Given the description of an element on the screen output the (x, y) to click on. 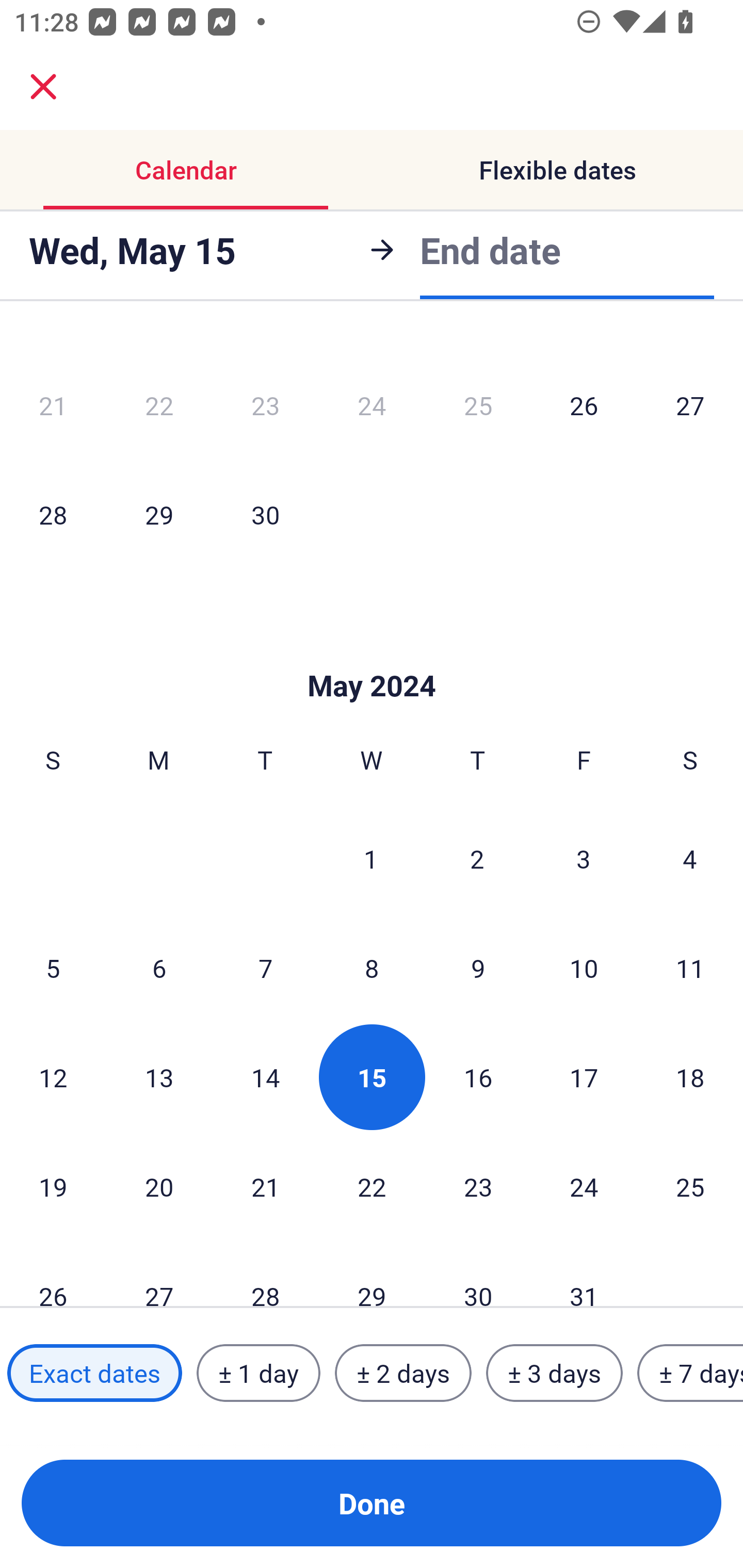
close. (43, 86)
Flexible dates (557, 170)
End date (489, 246)
21 Sunday, April 21, 2024 (53, 404)
22 Monday, April 22, 2024 (159, 404)
23 Tuesday, April 23, 2024 (265, 404)
24 Wednesday, April 24, 2024 (371, 404)
25 Thursday, April 25, 2024 (477, 404)
26 Friday, April 26, 2024 (584, 404)
27 Saturday, April 27, 2024 (690, 404)
28 Sunday, April 28, 2024 (53, 513)
29 Monday, April 29, 2024 (159, 513)
30 Tuesday, April 30, 2024 (265, 513)
Skip to Done (371, 654)
1 Wednesday, May 1, 2024 (371, 858)
2 Thursday, May 2, 2024 (477, 858)
3 Friday, May 3, 2024 (583, 858)
4 Saturday, May 4, 2024 (689, 858)
5 Sunday, May 5, 2024 (53, 967)
6 Monday, May 6, 2024 (159, 967)
7 Tuesday, May 7, 2024 (265, 967)
8 Wednesday, May 8, 2024 (371, 967)
9 Thursday, May 9, 2024 (477, 967)
10 Friday, May 10, 2024 (584, 967)
11 Saturday, May 11, 2024 (690, 967)
12 Sunday, May 12, 2024 (53, 1076)
13 Monday, May 13, 2024 (159, 1076)
14 Tuesday, May 14, 2024 (265, 1076)
16 Thursday, May 16, 2024 (477, 1076)
17 Friday, May 17, 2024 (584, 1076)
18 Saturday, May 18, 2024 (690, 1076)
19 Sunday, May 19, 2024 (53, 1185)
20 Monday, May 20, 2024 (159, 1185)
21 Tuesday, May 21, 2024 (265, 1185)
22 Wednesday, May 22, 2024 (371, 1185)
23 Thursday, May 23, 2024 (477, 1185)
24 Friday, May 24, 2024 (584, 1185)
25 Saturday, May 25, 2024 (690, 1185)
26 Sunday, May 26, 2024 (53, 1274)
27 Monday, May 27, 2024 (159, 1274)
28 Tuesday, May 28, 2024 (265, 1274)
29 Wednesday, May 29, 2024 (371, 1274)
30 Thursday, May 30, 2024 (477, 1274)
31 Friday, May 31, 2024 (584, 1274)
Exact dates (94, 1372)
± 1 day (258, 1372)
± 2 days (403, 1372)
± 3 days (553, 1372)
± 7 days (690, 1372)
Done (371, 1502)
